Given the description of an element on the screen output the (x, y) to click on. 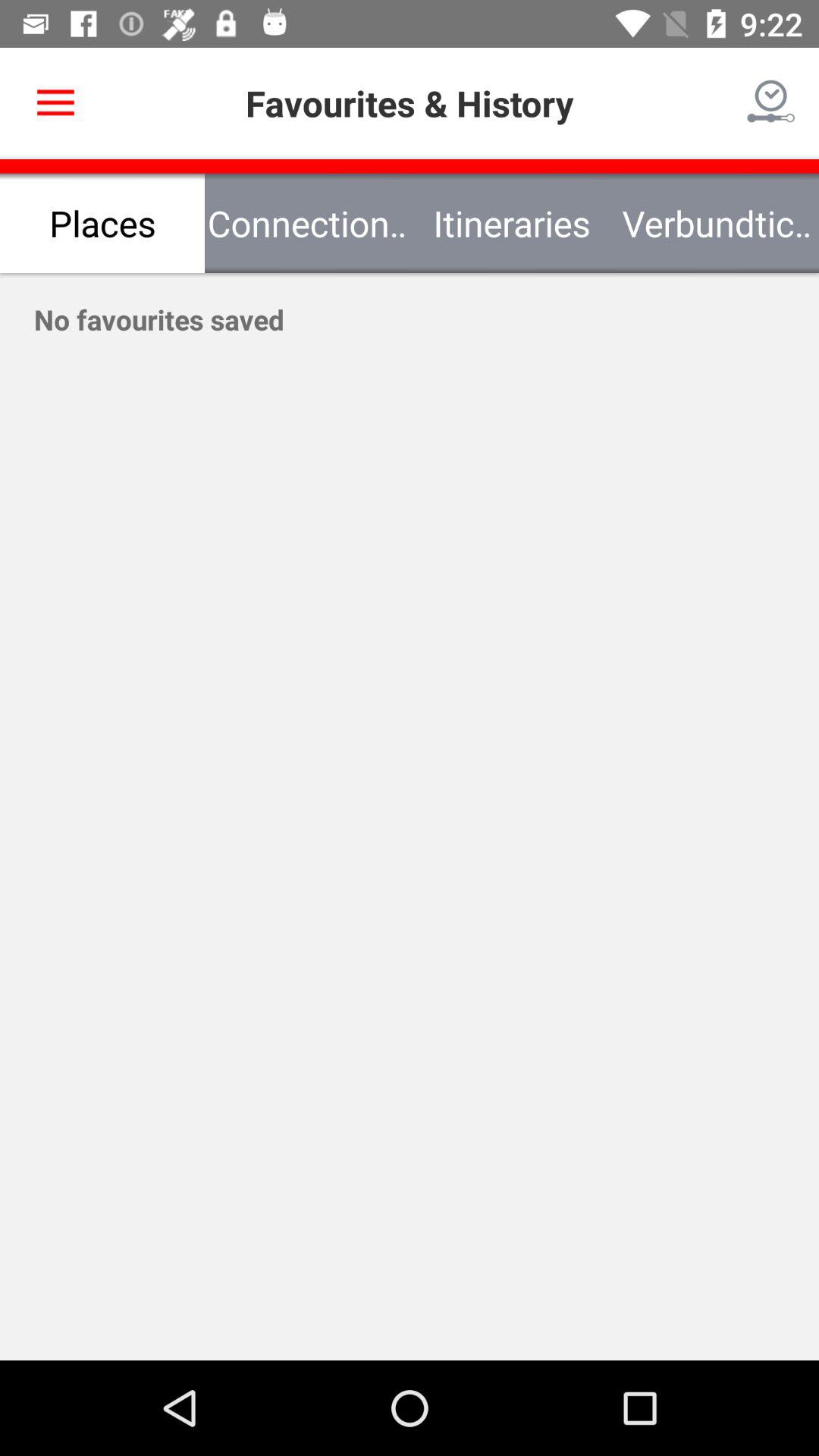
open the places item (102, 223)
